Given the description of an element on the screen output the (x, y) to click on. 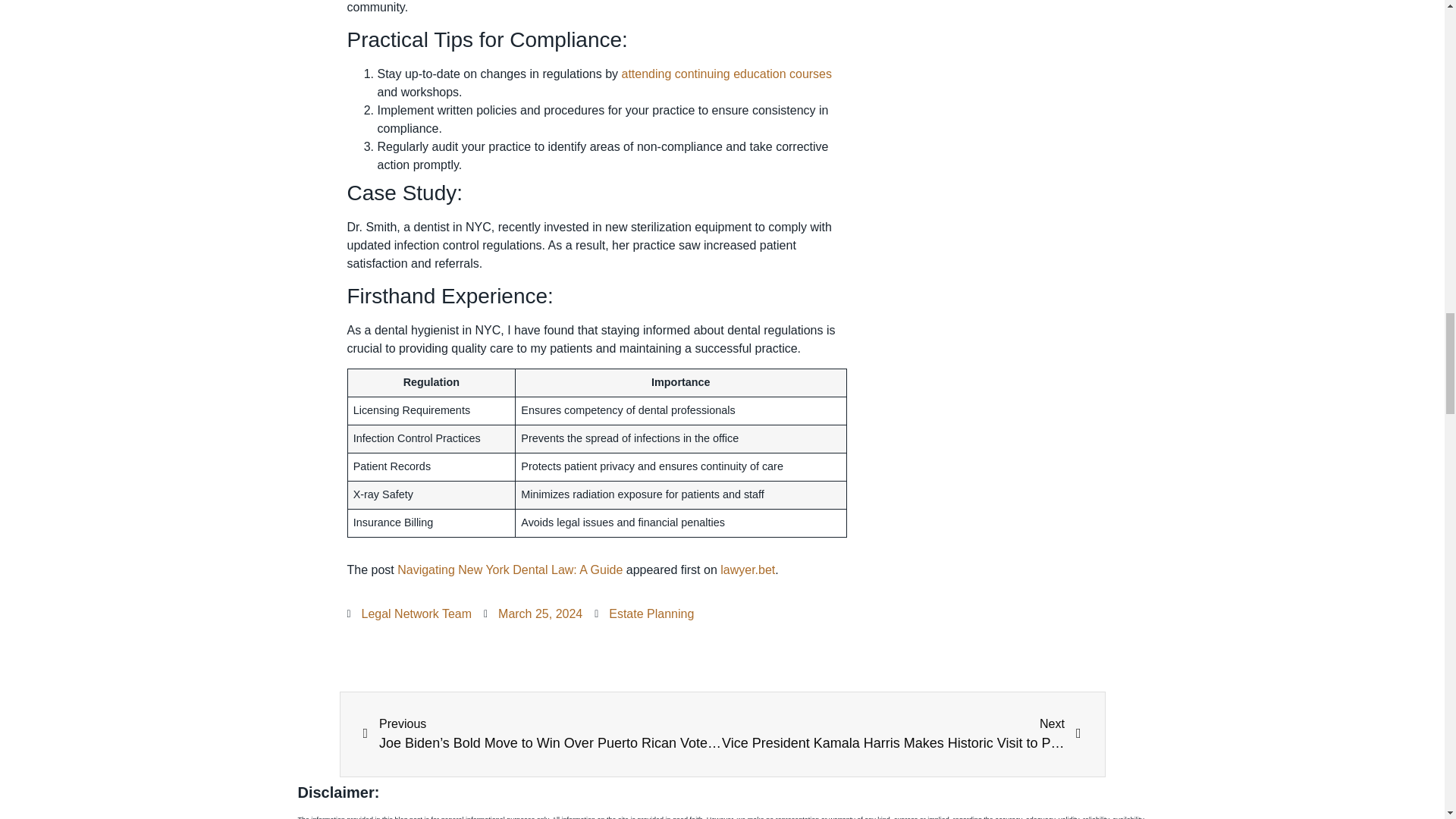
Estate Planning (651, 613)
attending continuing education courses (726, 73)
lawyer.bet (747, 569)
March 25, 2024 (532, 614)
Navigating New York Dental Law: A Guide (726, 73)
Navigating New York Dental Law: A Guide (510, 569)
